Given the description of an element on the screen output the (x, y) to click on. 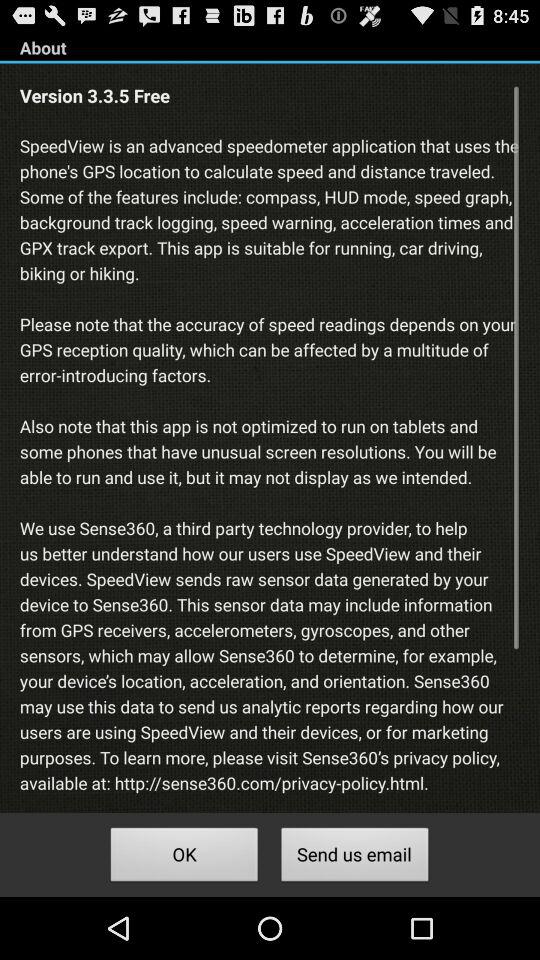
jump to the ok icon (184, 857)
